Given the description of an element on the screen output the (x, y) to click on. 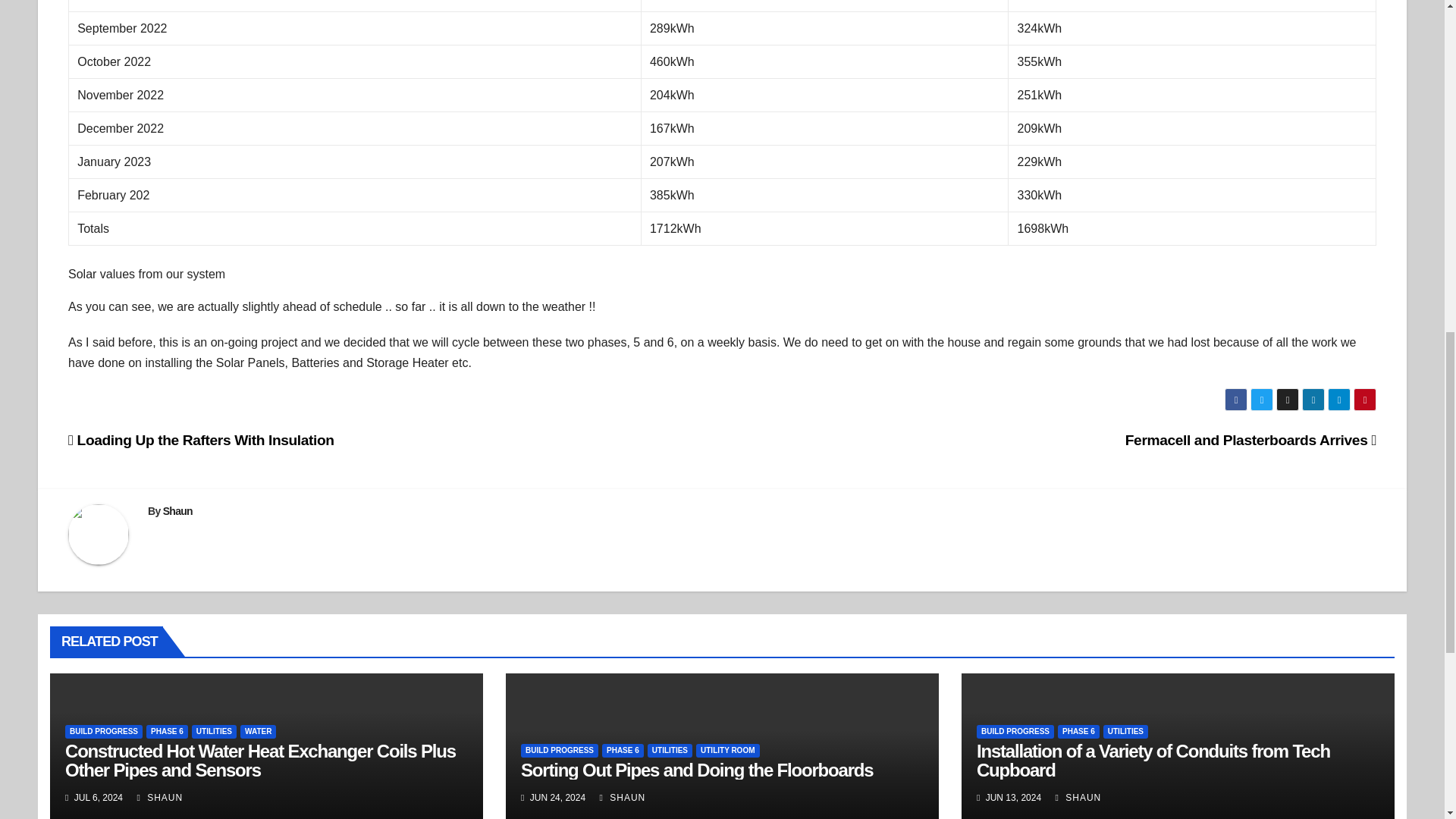
Permalink to: Sorting Out Pipes and Doing the Floorboards (696, 770)
